Given the description of an element on the screen output the (x, y) to click on. 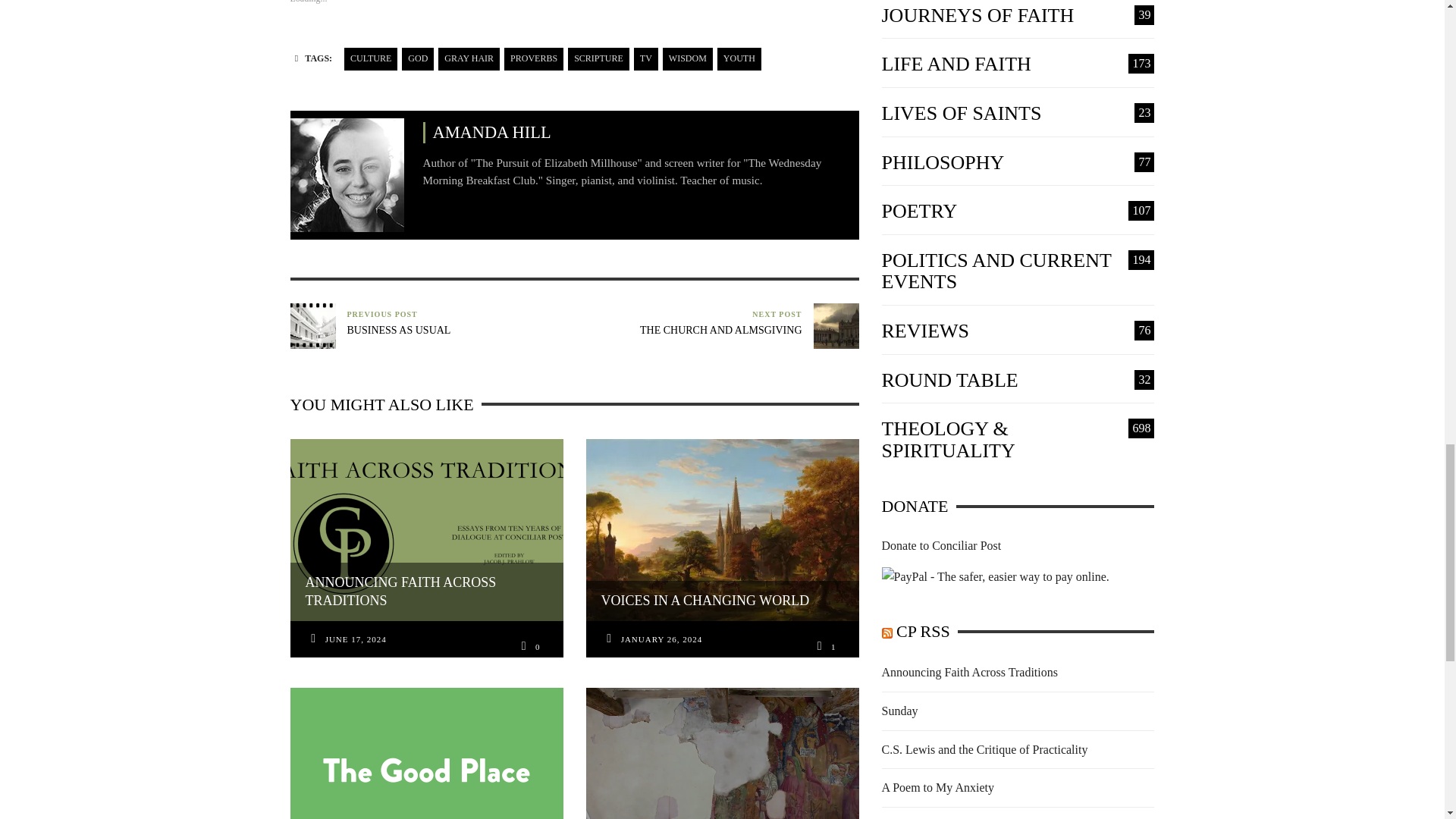
Permalink to Announcing Faith Across Traditions (355, 639)
Permalink to Voices in a Changing World (662, 639)
View all posts by Amanda Hill (346, 174)
